Given the description of an element on the screen output the (x, y) to click on. 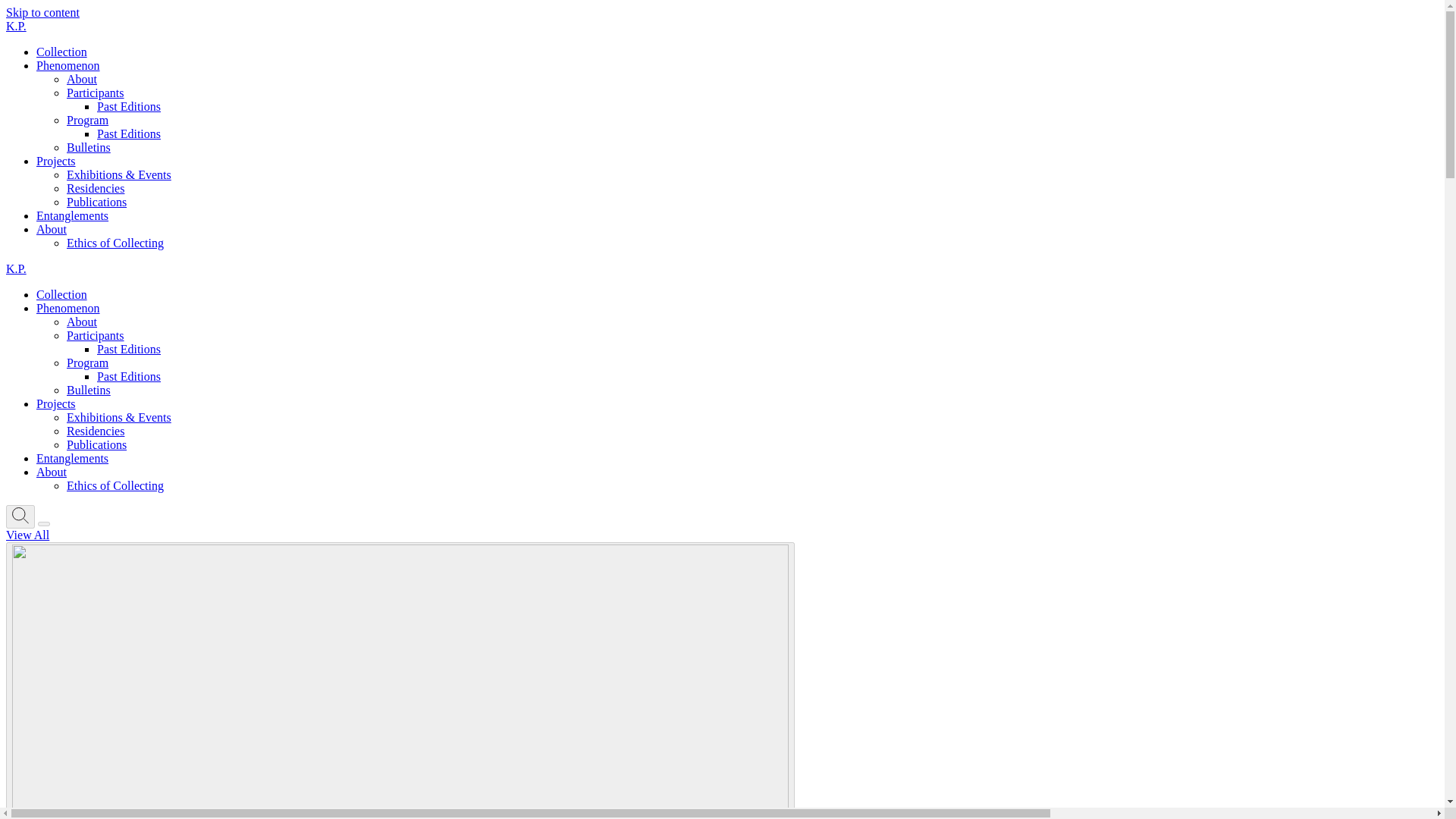
Residencies (94, 187)
Bulletins (88, 146)
Ethics of Collecting (114, 485)
Residency,  (94, 187)
Projects,  (55, 160)
About (51, 228)
Collection (61, 51)
Past Editions (128, 349)
Publications (96, 201)
View All (27, 534)
